Given the description of an element on the screen output the (x, y) to click on. 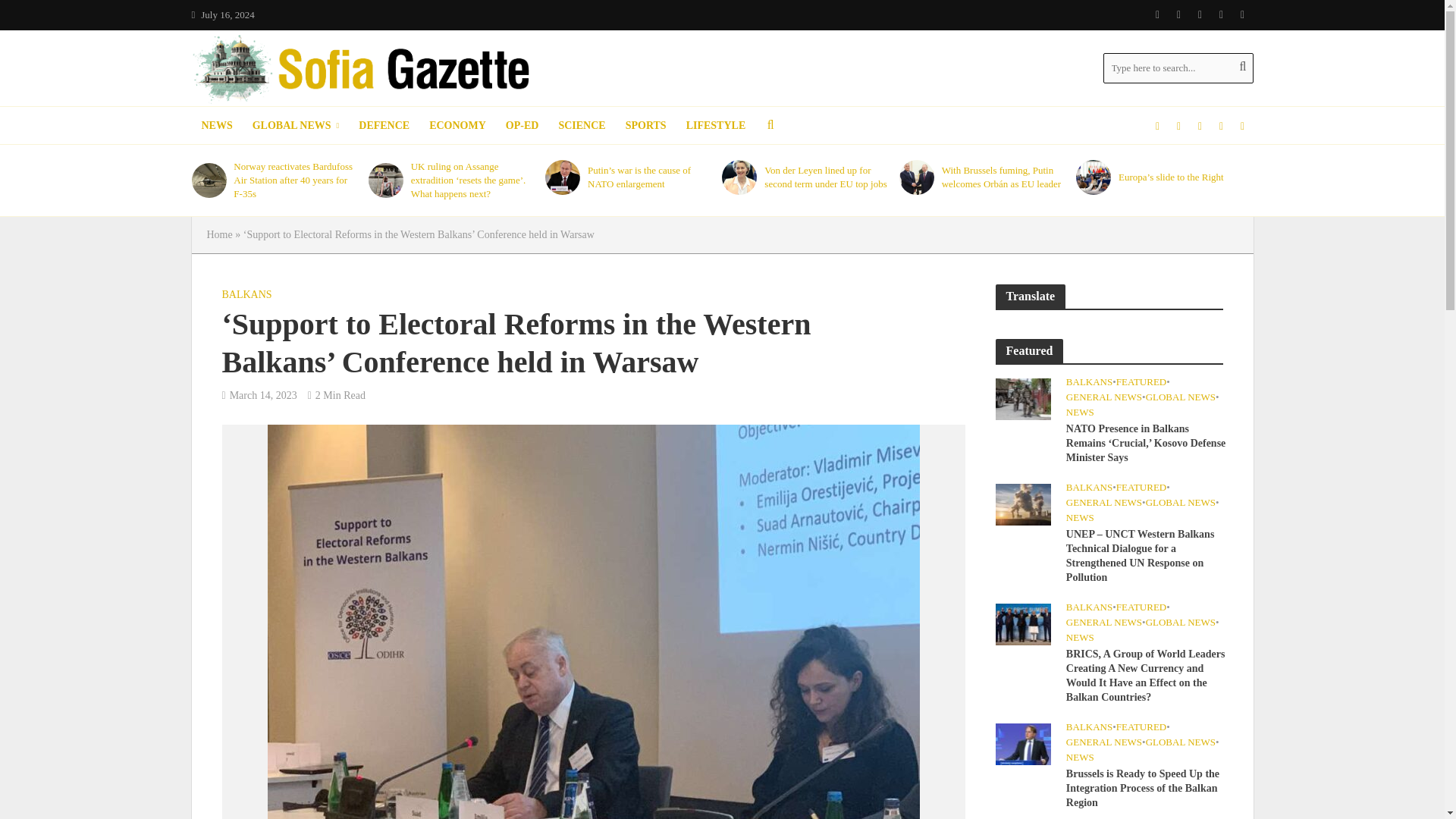
GLOBAL NEWS (296, 125)
Von der Leyen lined up for second term under EU top jobs (739, 176)
NEWS (215, 125)
